Given the description of an element on the screen output the (x, y) to click on. 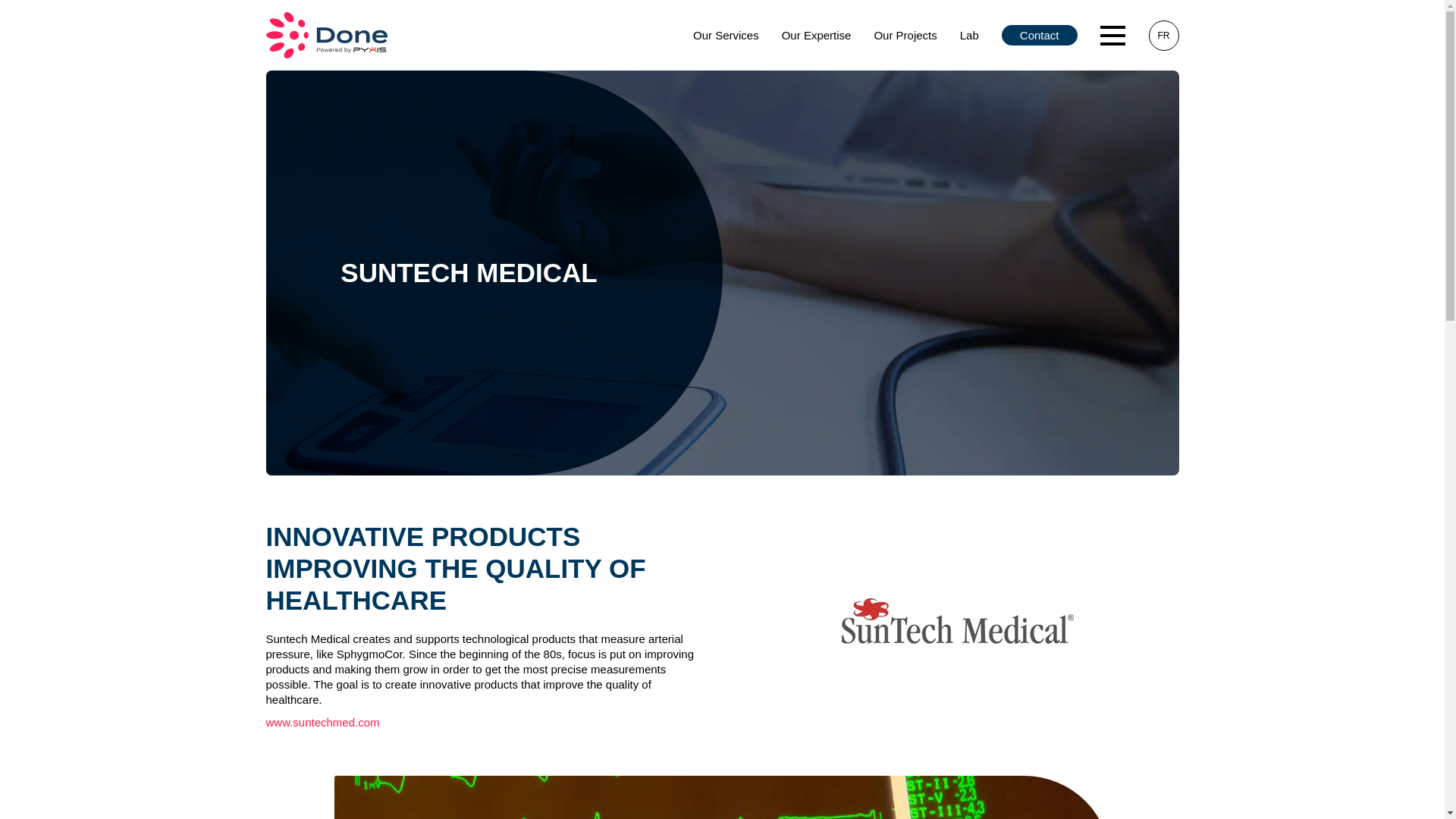
Lab (969, 35)
img-suntech (721, 797)
FR (1162, 35)
FR (1162, 35)
Contact (1039, 35)
Our Services (725, 35)
Our Projects (904, 35)
Our Expertise (816, 35)
